Given the description of an element on the screen output the (x, y) to click on. 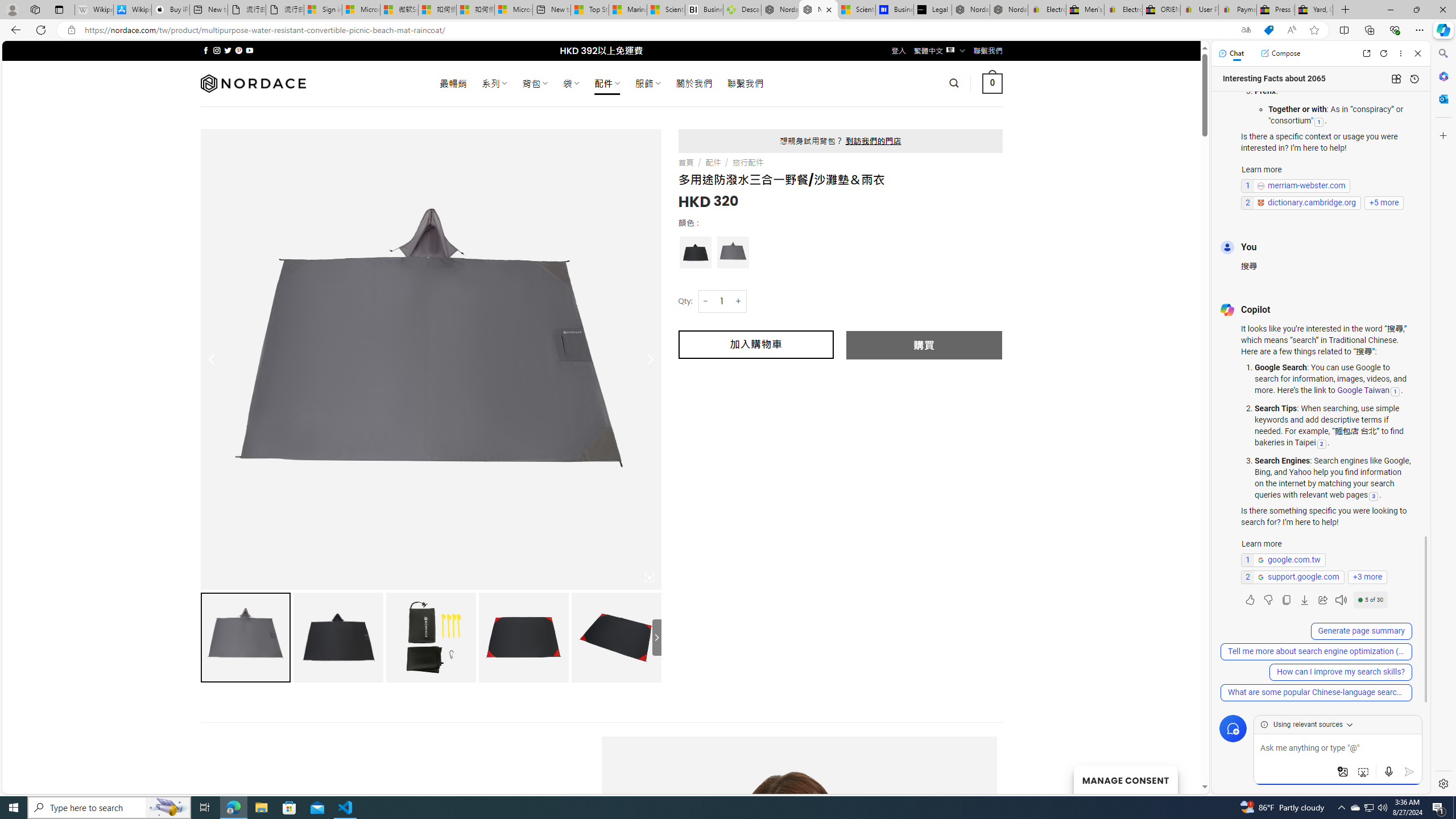
Top Stories - MSN (589, 9)
Follow on Instagram (216, 50)
Class: iconic-woothumbs-fullscreen (649, 577)
Microsoft Services Agreement (360, 9)
Follow on Facebook (205, 50)
